Given the description of an element on the screen output the (x, y) to click on. 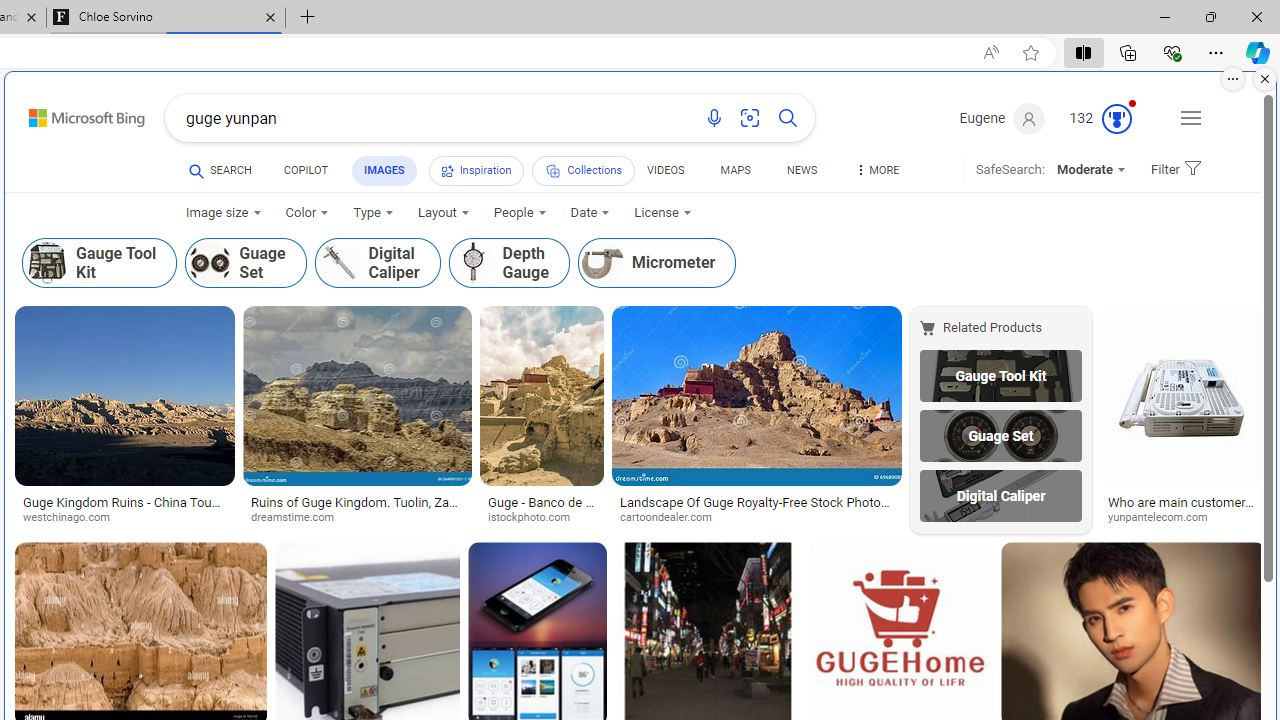
Inspiration (475, 170)
Microsoft Rewards 132 (1103, 119)
Guage Set (1000, 435)
yunpantelecom.com (1183, 517)
Eugene (1001, 119)
Type (372, 213)
Chloe Sorvino (166, 17)
NEWS (801, 170)
MORE (875, 173)
Layout (442, 213)
